Given the description of an element on the screen output the (x, y) to click on. 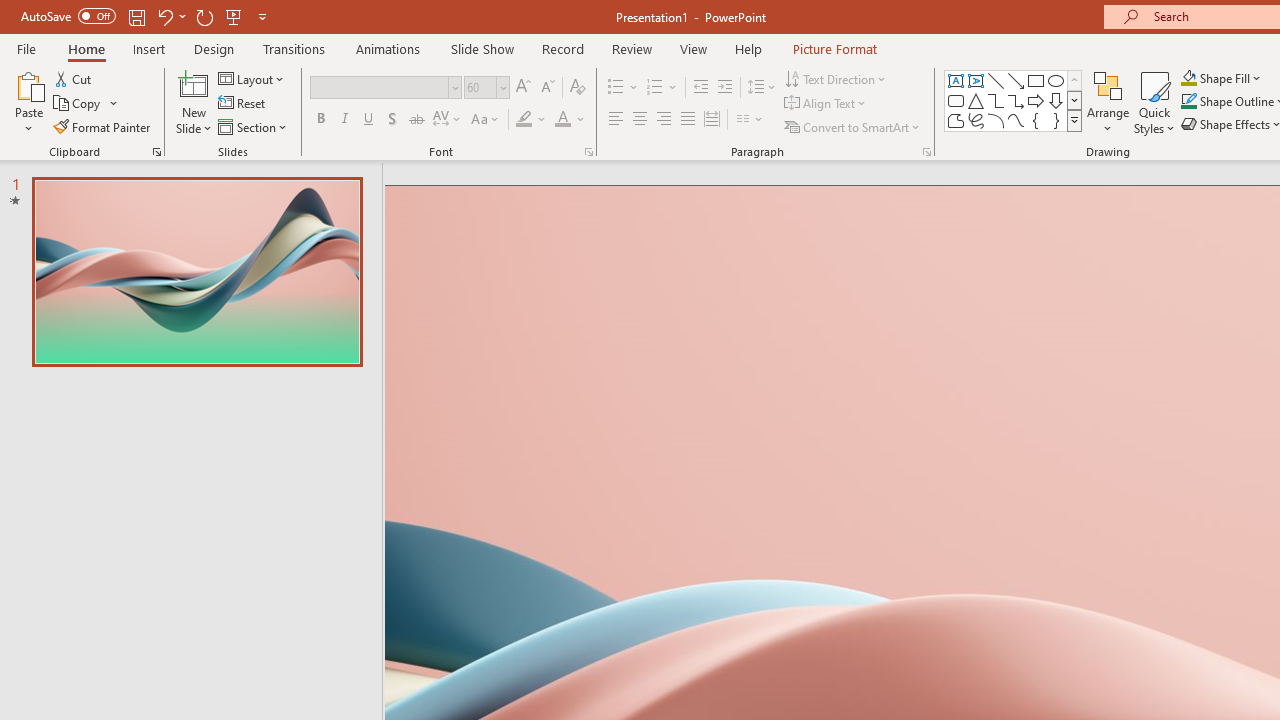
Open (502, 87)
Redo (204, 15)
Insert (149, 48)
Align Left (616, 119)
Underline (369, 119)
Text Direction (836, 78)
Animations (388, 48)
Slide (196, 271)
Columns (750, 119)
Copy (78, 103)
Quick Styles (1154, 102)
New Slide (193, 84)
Record (562, 48)
Strikethrough (416, 119)
